Given the description of an element on the screen output the (x, y) to click on. 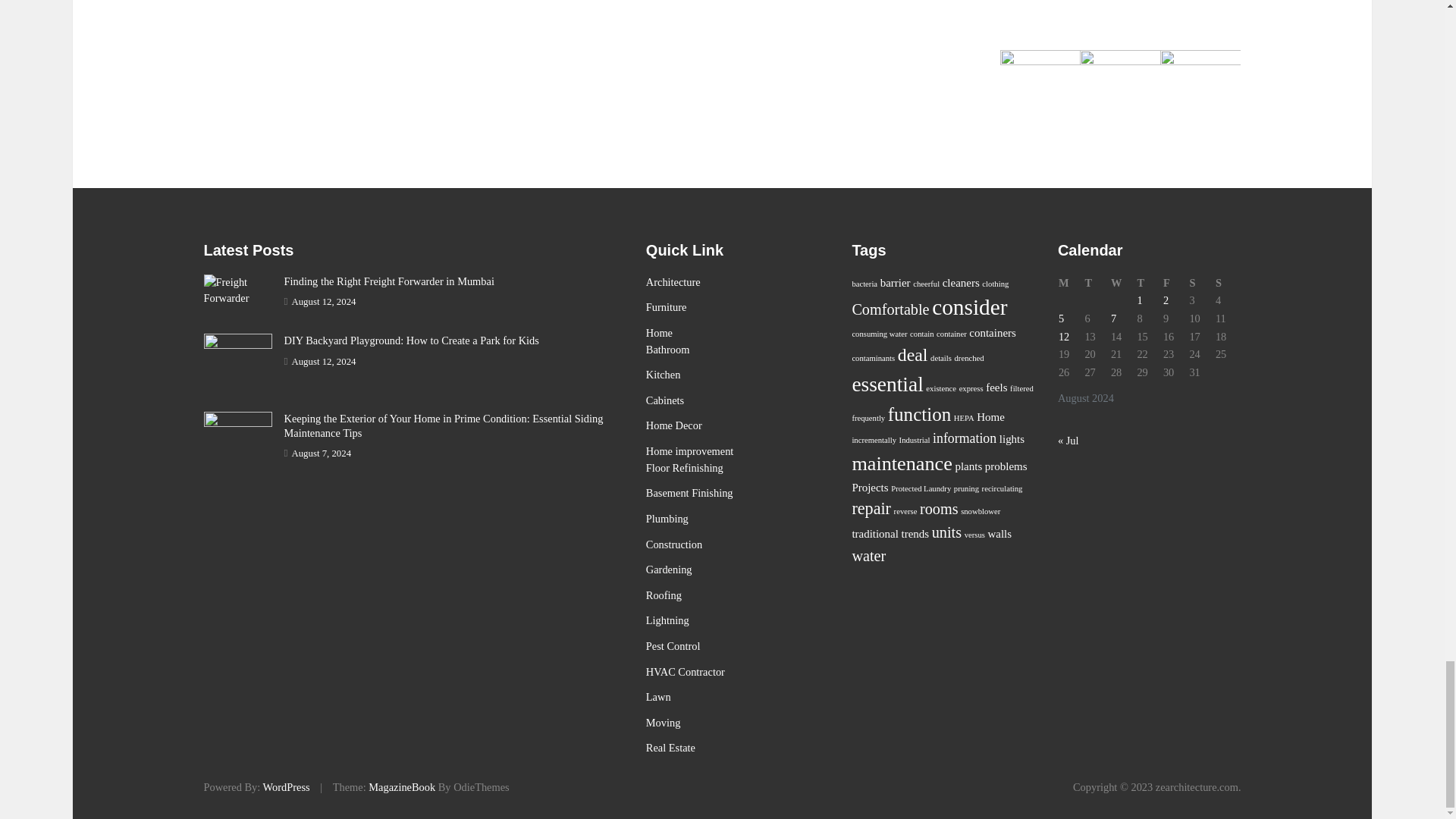
Wednesday (1123, 283)
Saturday (1201, 283)
Sunday (1227, 283)
Tuesday (1096, 283)
Monday (1071, 283)
Friday (1175, 283)
Thursday (1148, 283)
